Given the description of an element on the screen output the (x, y) to click on. 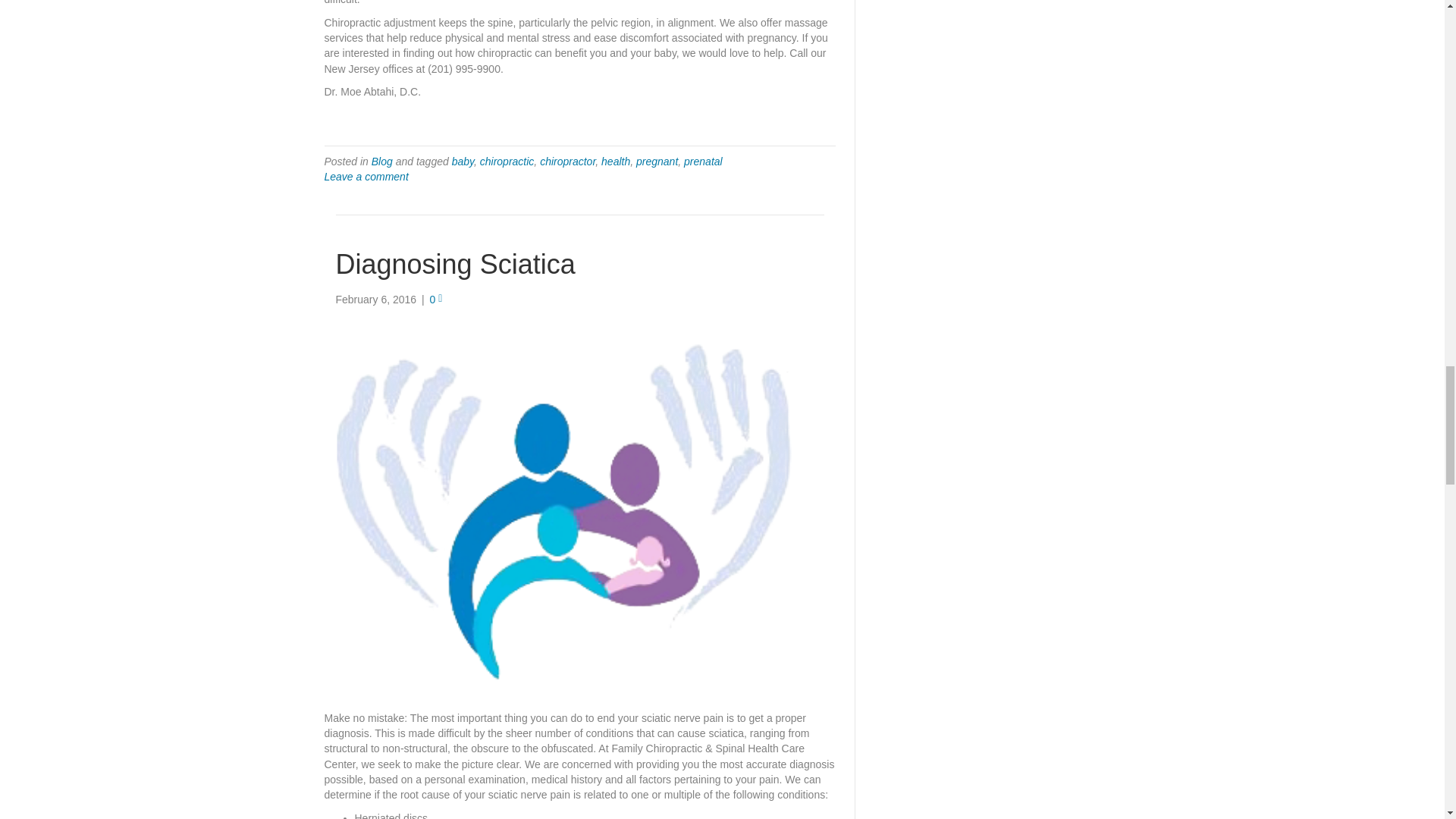
Diagnosing Sciatica (454, 264)
Diagnosing Sciatica (566, 508)
